Given the description of an element on the screen output the (x, y) to click on. 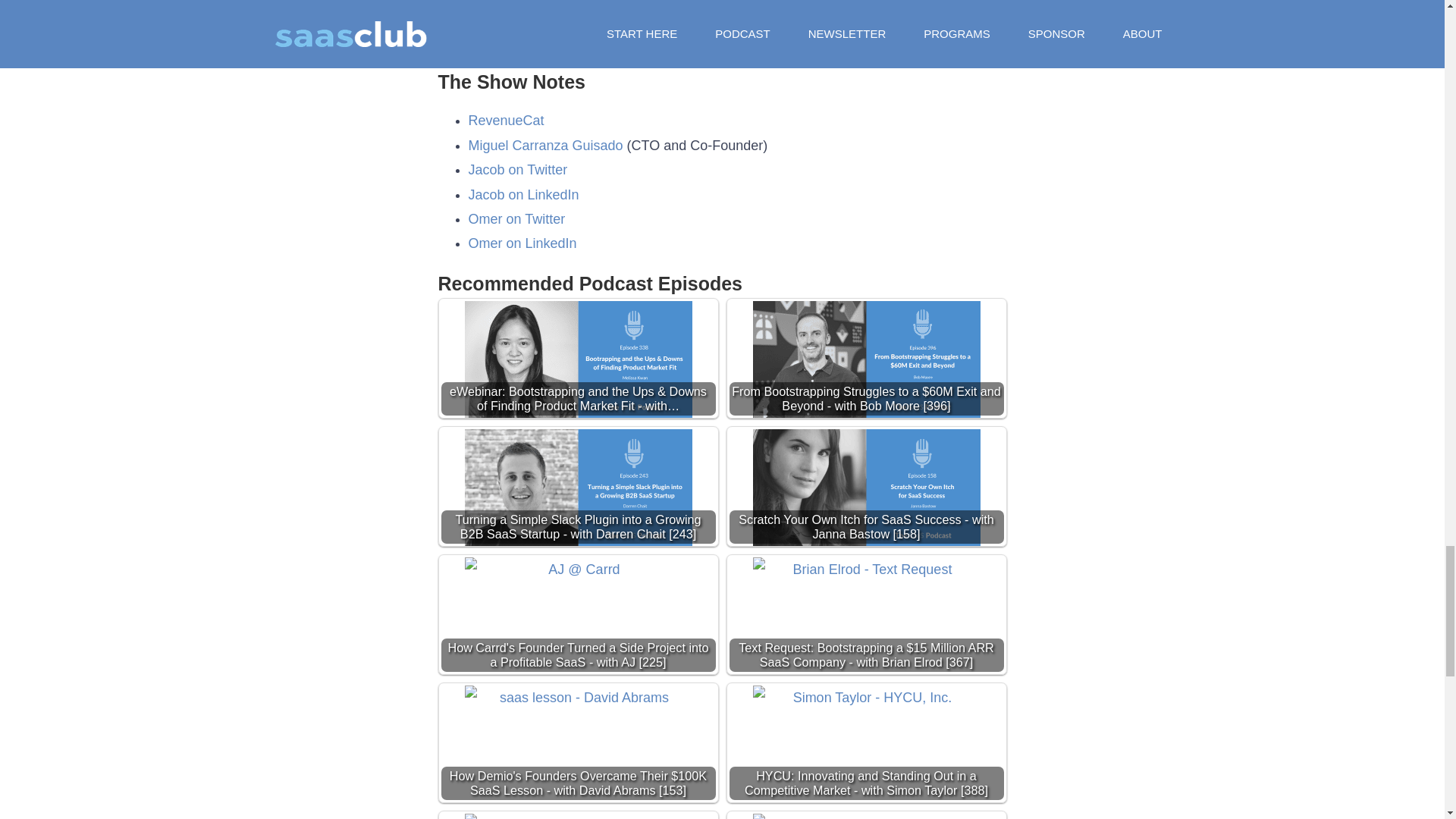
Jacob on LinkedIn (523, 194)
Jacob on Twitter (517, 169)
Miguel Carranza Guisado (545, 145)
RevenueCat (506, 120)
Omer on LinkedIn (522, 242)
Omer on Twitter (517, 218)
